Given the description of an element on the screen output the (x, y) to click on. 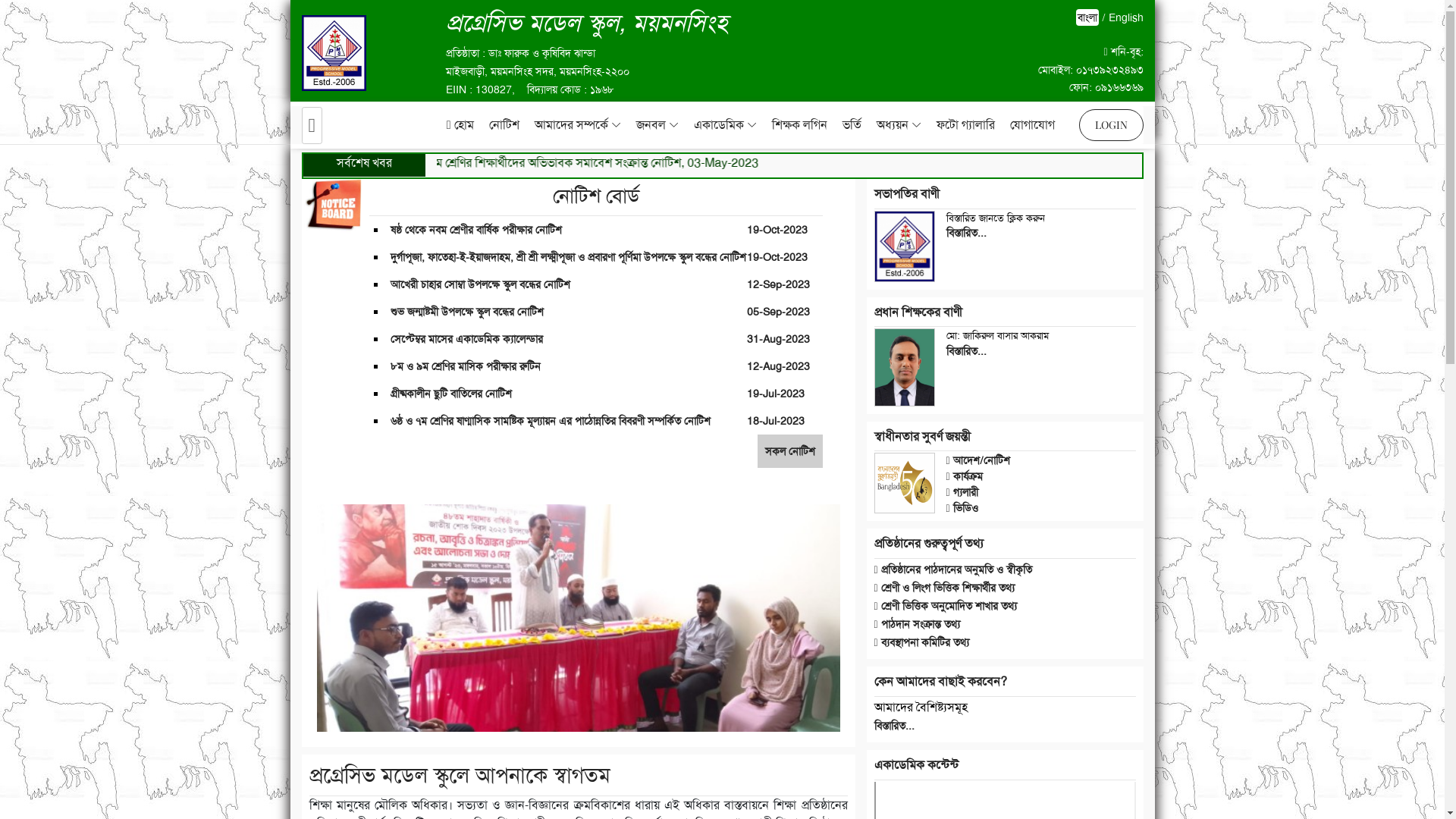
19-Oct-2023 Element type: text (776, 256)
12-Sep-2023 Element type: text (777, 284)
18-Jul-2023 Element type: text (775, 420)
19-Jul-2023 Element type: text (775, 393)
12-Aug-2023 Element type: text (777, 366)
31-Aug-2023 Element type: text (777, 338)
19-Oct-2023 Element type: text (776, 229)
LOGIN Element type: text (1110, 125)
English Element type: text (1125, 17)
05-Sep-2023 Element type: text (777, 311)
Home Page Element type: hover (312, 124)
